Given the description of an element on the screen output the (x, y) to click on. 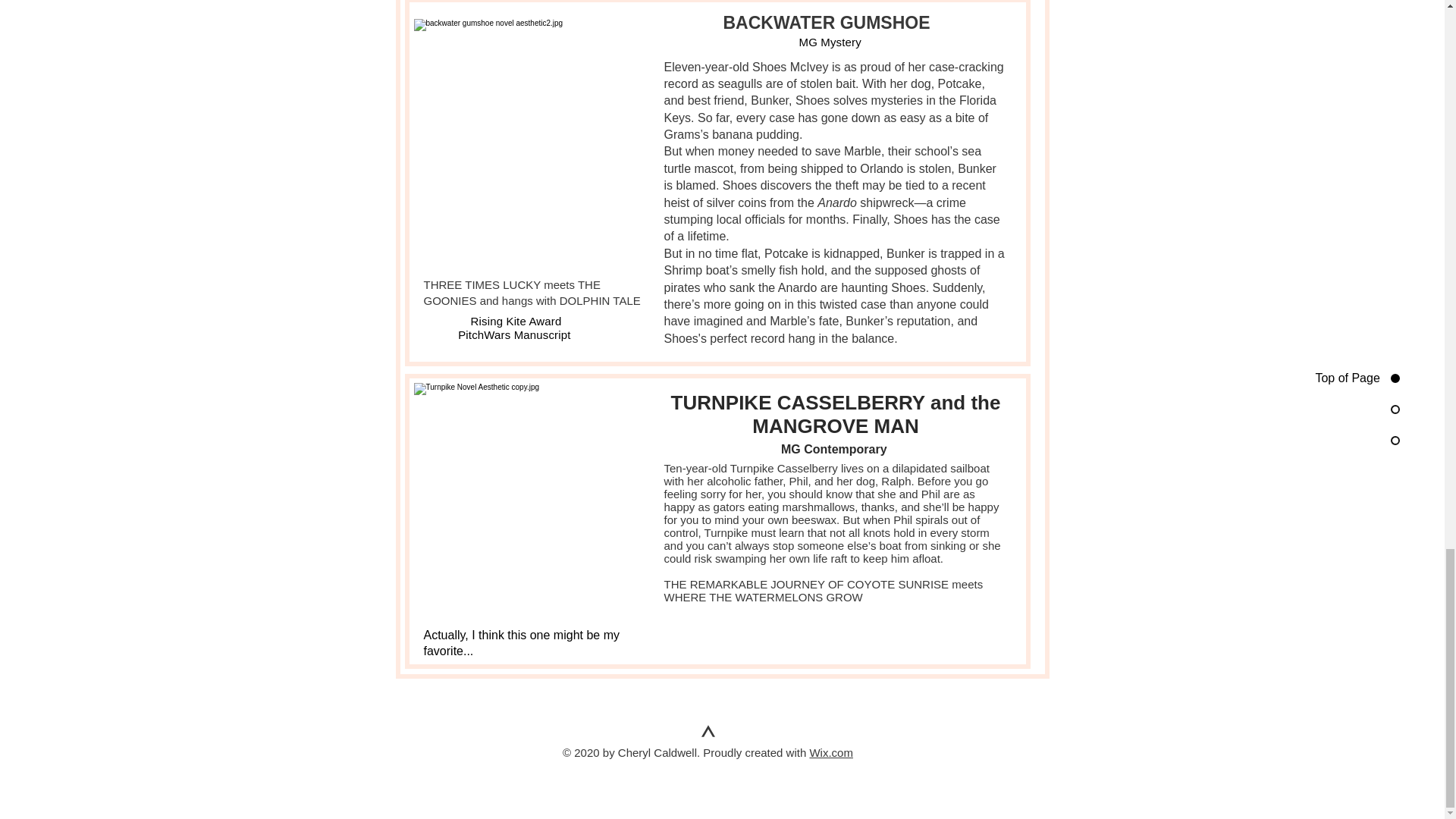
Wix.com (831, 752)
